Given the description of an element on the screen output the (x, y) to click on. 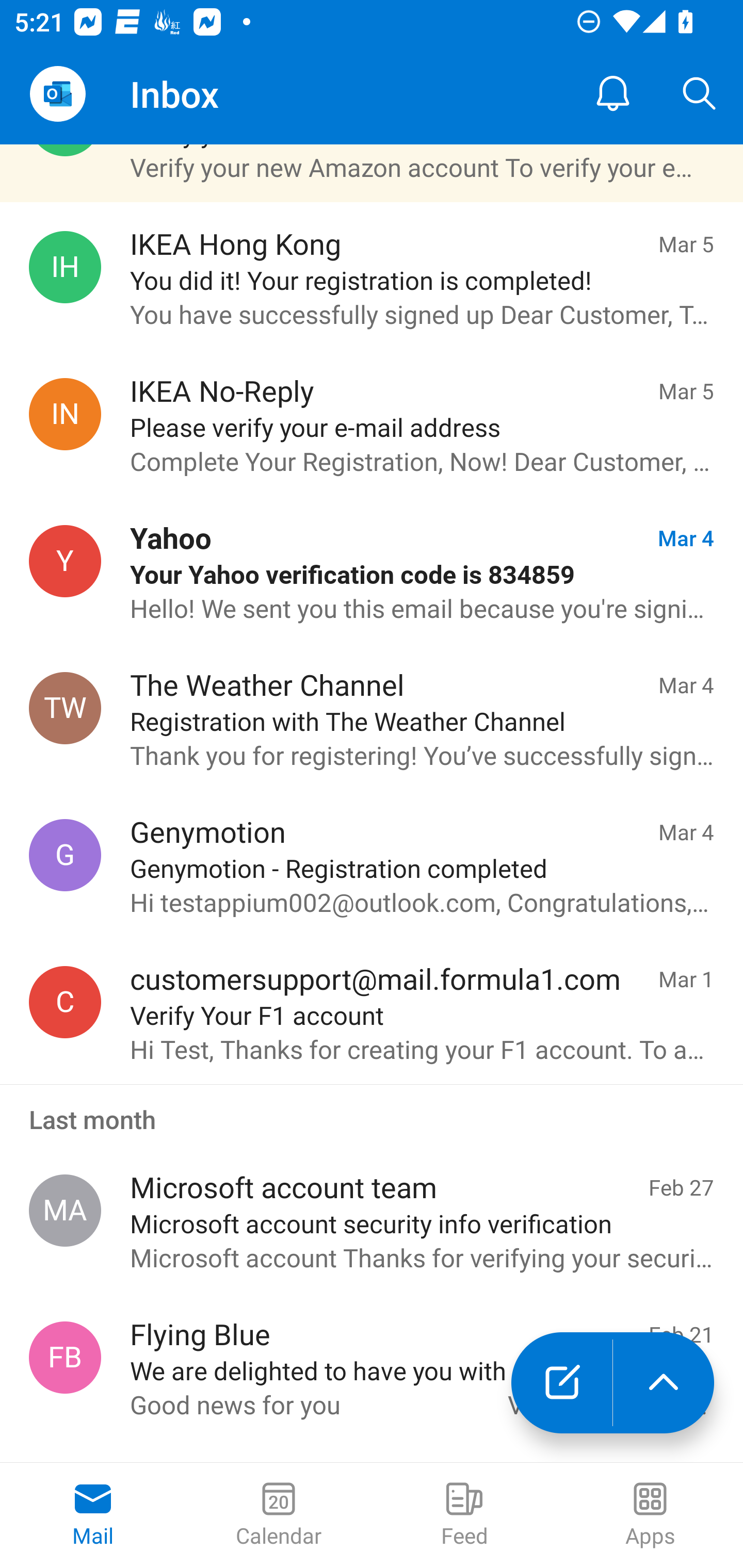
Notification Center (612, 93)
Search, ,  (699, 93)
Close Navigation Drawer (57, 94)
IKEA Hong Kong, IKHK_AWS@ikea.com.hk (64, 266)
IKEA No-Reply, noreply@ikea.com.hk (64, 413)
Yahoo, no-reply@cc.yahoo-inc.com (64, 561)
The Weather Channel, noreply@weather.com (64, 708)
Genymotion, genymotion-activation@genymobile.com (64, 854)
Flying Blue, do_not_reply@info-flyingblue.com (64, 1357)
New mail (561, 1382)
launch the extended action menu (663, 1382)
Calendar (278, 1515)
Feed (464, 1515)
Apps (650, 1515)
